Given the description of an element on the screen output the (x, y) to click on. 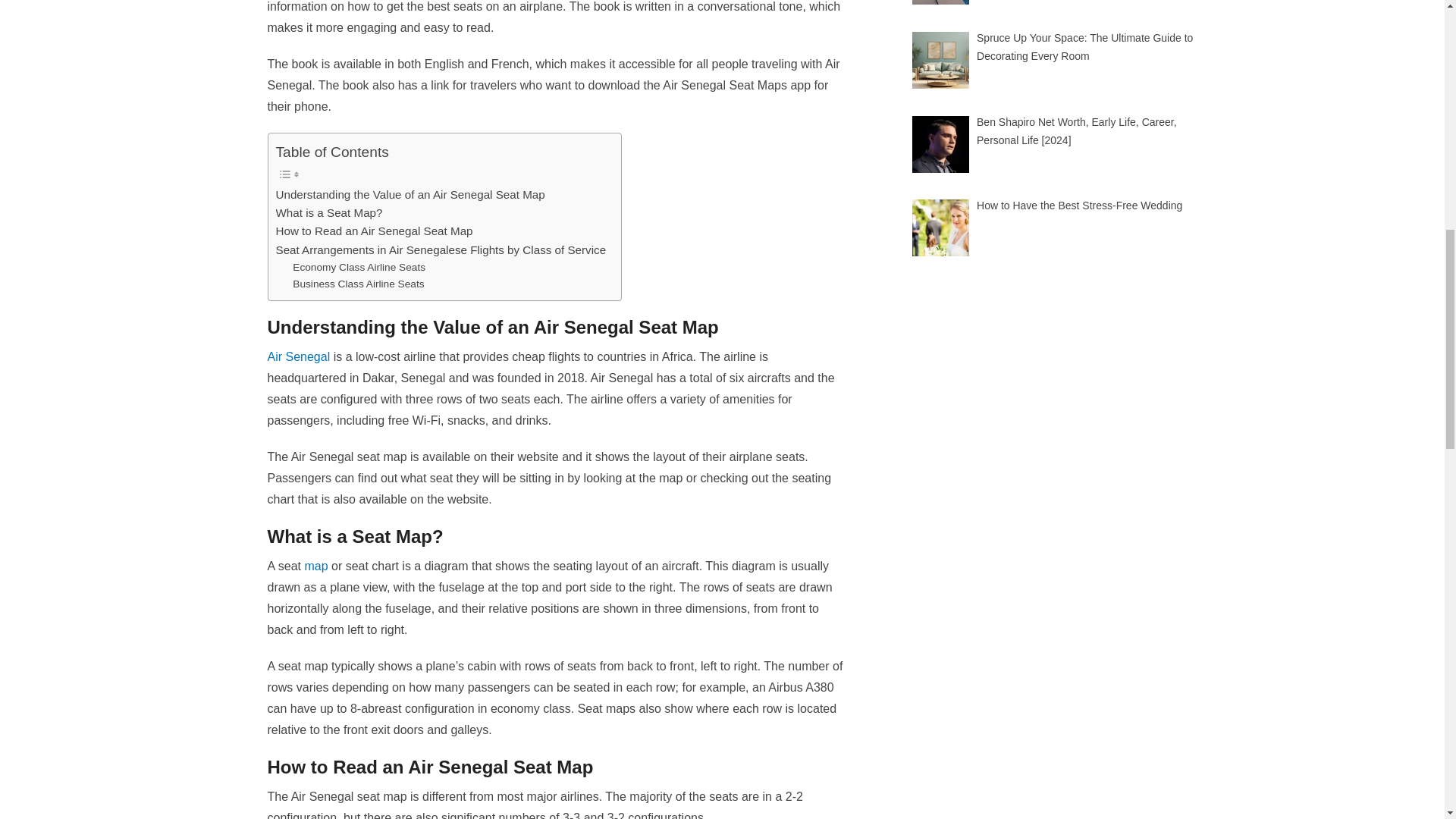
How to Read an Air Senegal Seat Map (374, 230)
Understanding the Value of an Air Senegal Seat Map (410, 194)
Economy Class Airline Seats (358, 267)
What is a Seat Map? (329, 212)
Business Class Airline Seats (357, 284)
